Given the description of an element on the screen output the (x, y) to click on. 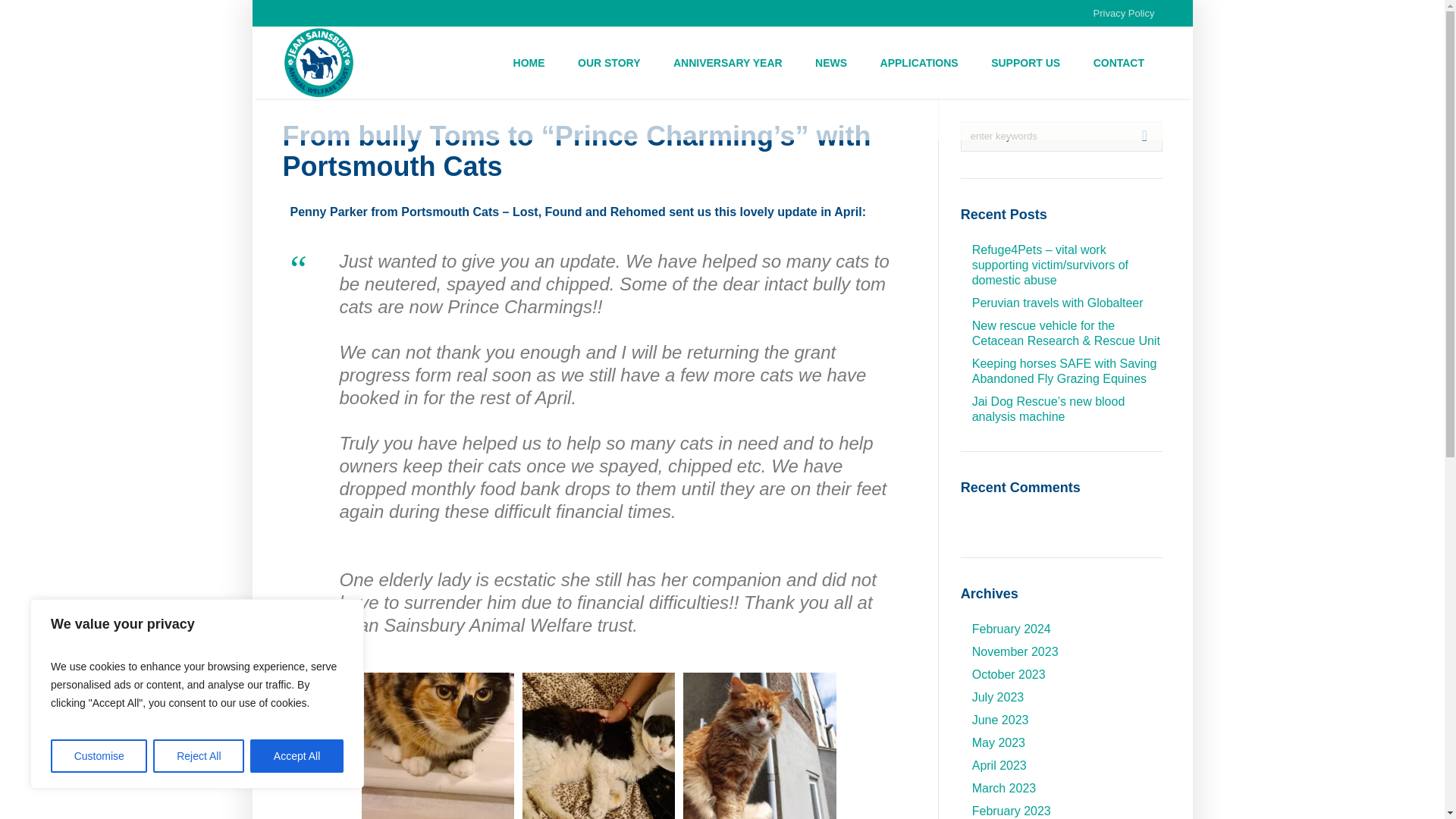
Accept All (296, 756)
ANNIVERSARY YEAR (727, 61)
HOME (529, 61)
APPLICATIONS (919, 61)
SUPPORT US (1025, 61)
Privacy Policy (1123, 12)
CONTACT (1118, 61)
OUR STORY (608, 61)
Reject All (198, 756)
NEWS (831, 61)
Customise (98, 756)
